Given the description of an element on the screen output the (x, y) to click on. 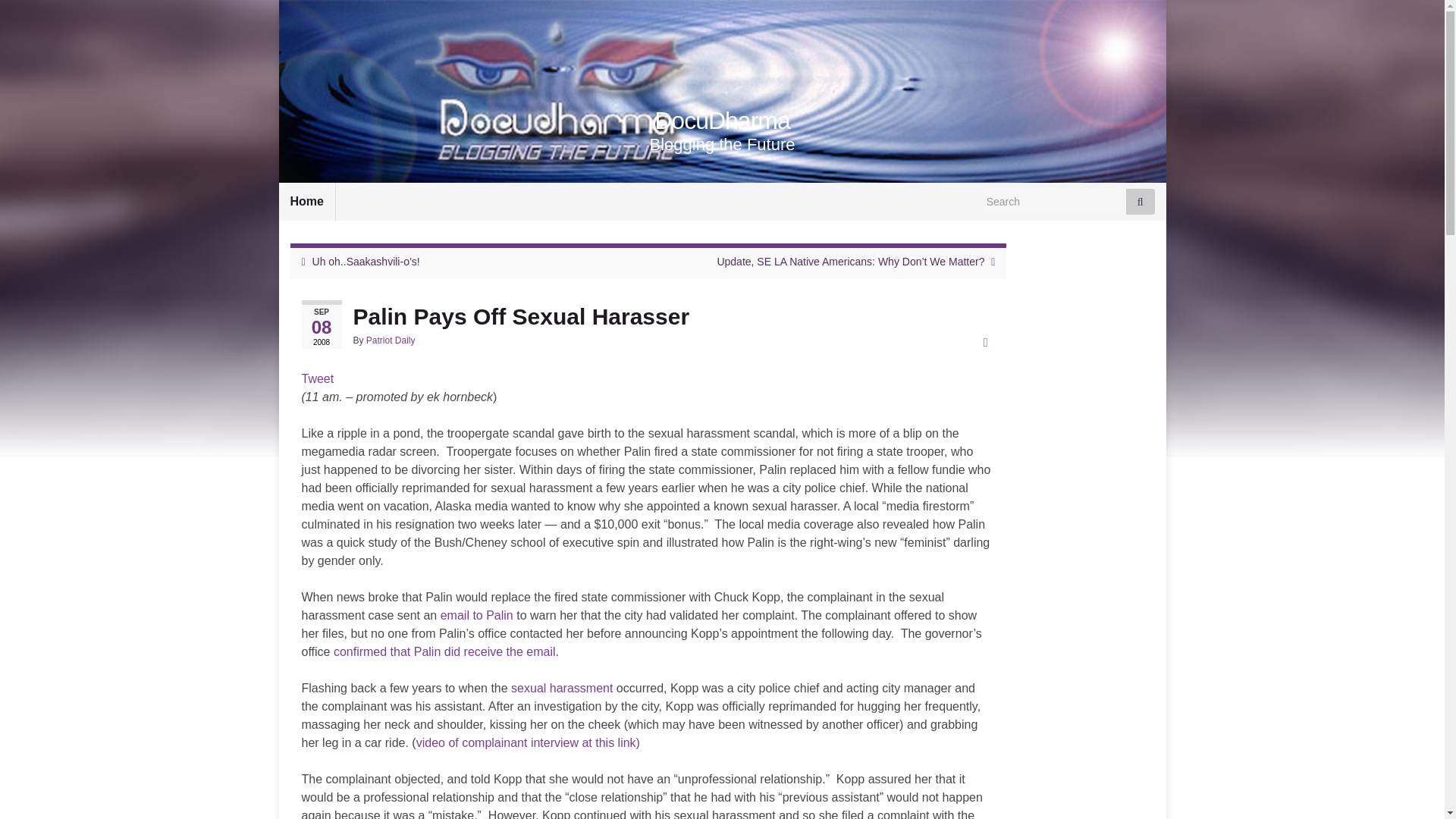
DocuDharma (721, 120)
Go back to the front page (721, 120)
sexual harassment (561, 687)
Patriot Daily (390, 339)
confirmed that Palin did receive the email (444, 651)
Home (306, 201)
email to Palin (477, 615)
Tweet (317, 378)
